Given the description of an element on the screen output the (x, y) to click on. 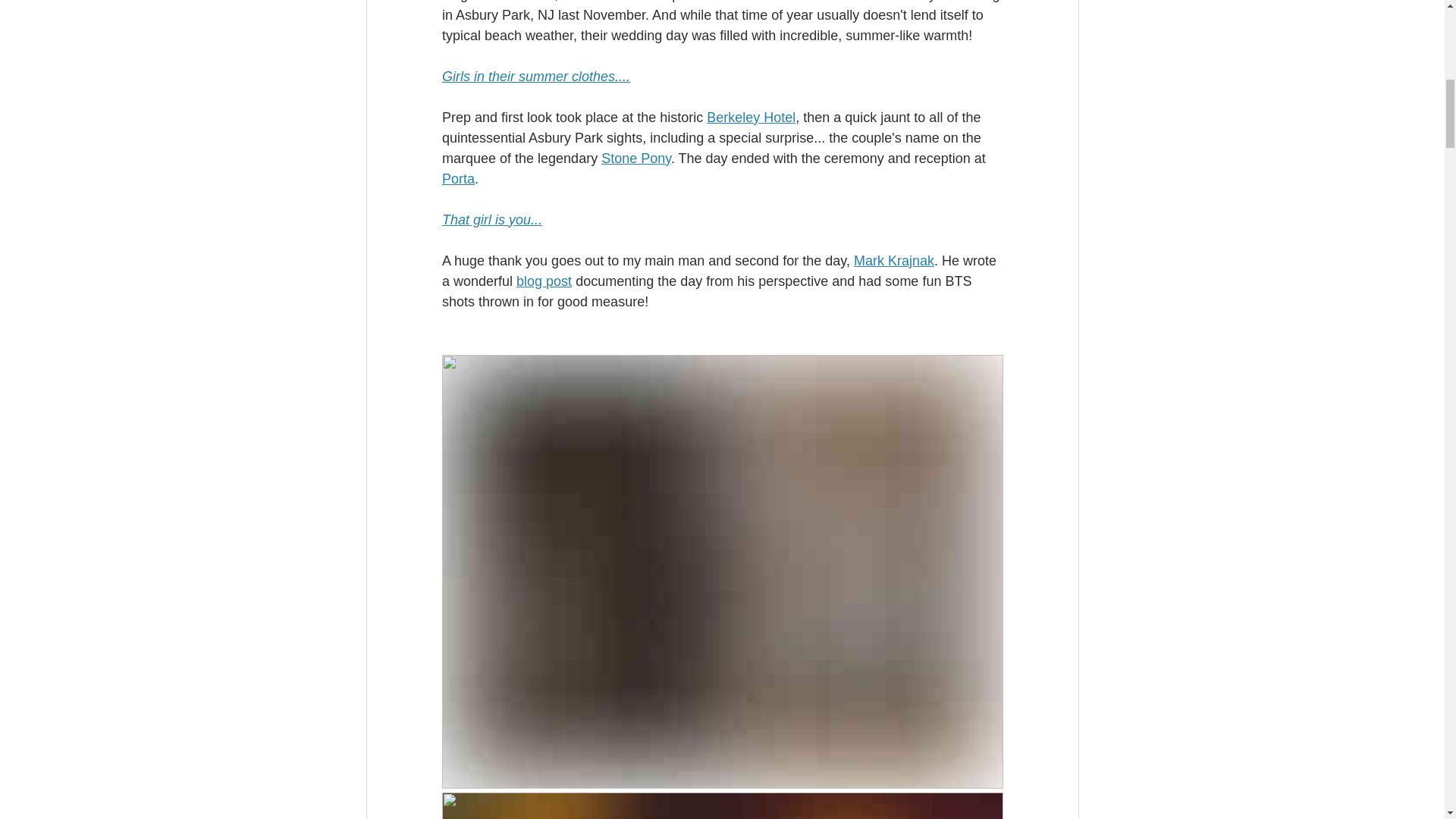
That girl is you... (491, 219)
Porta (457, 178)
Girls in their summer clothes.... (534, 76)
blog post (544, 281)
Berkeley Hotel (750, 117)
Stone Pony (636, 158)
Mark Krajnak (893, 260)
